Given the description of an element on the screen output the (x, y) to click on. 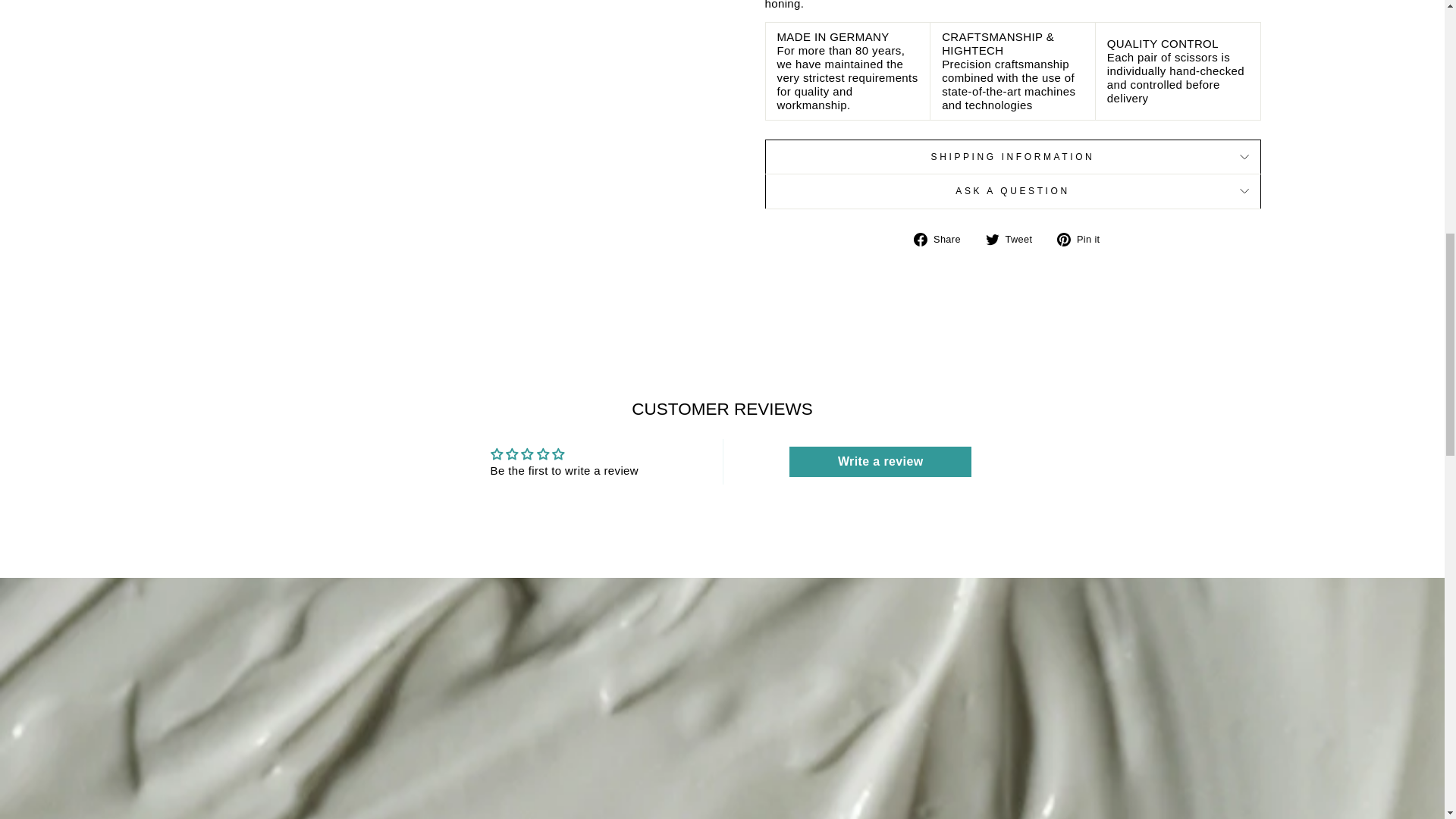
Share on Facebook (942, 238)
Pin on Pinterest (1083, 238)
Tweet on Twitter (1014, 238)
